Given the description of an element on the screen output the (x, y) to click on. 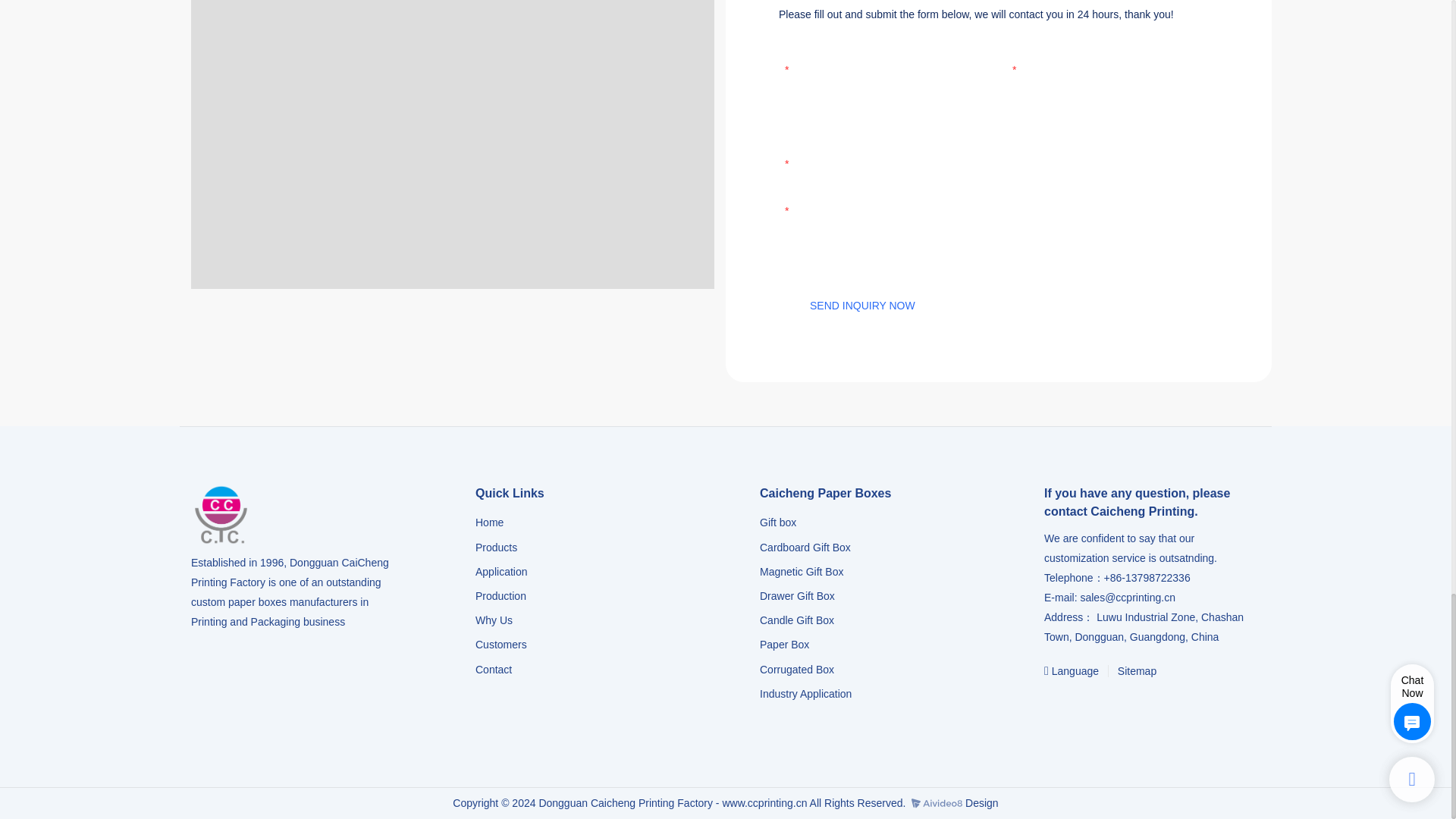
facebook (1055, 702)
youtube (1123, 702)
instagram (1089, 702)
